Given the description of an element on the screen output the (x, y) to click on. 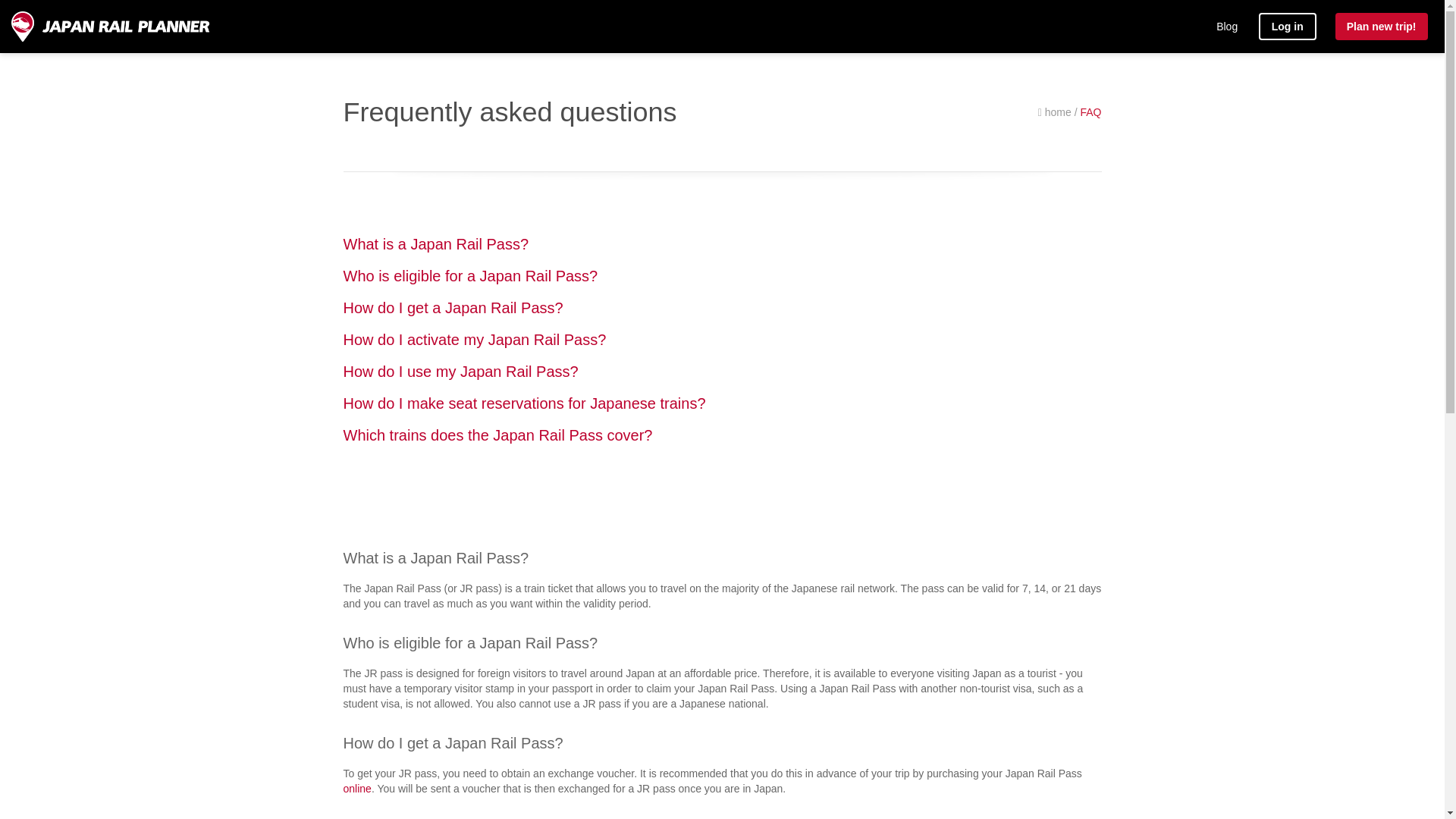
How do I make seat reservations for Japanese trains? (523, 402)
Who is eligible for a Japan Rail Pass? (469, 275)
online (356, 788)
How do I use my Japan Rail Pass? (460, 371)
Log in (1287, 26)
Plan new trip! (1381, 26)
What is a Japan Rail Pass? (435, 243)
How do I activate my Japan Rail Pass? (473, 339)
Which trains does the Japan Rail Pass cover? (497, 434)
home (1054, 111)
